Given the description of an element on the screen output the (x, y) to click on. 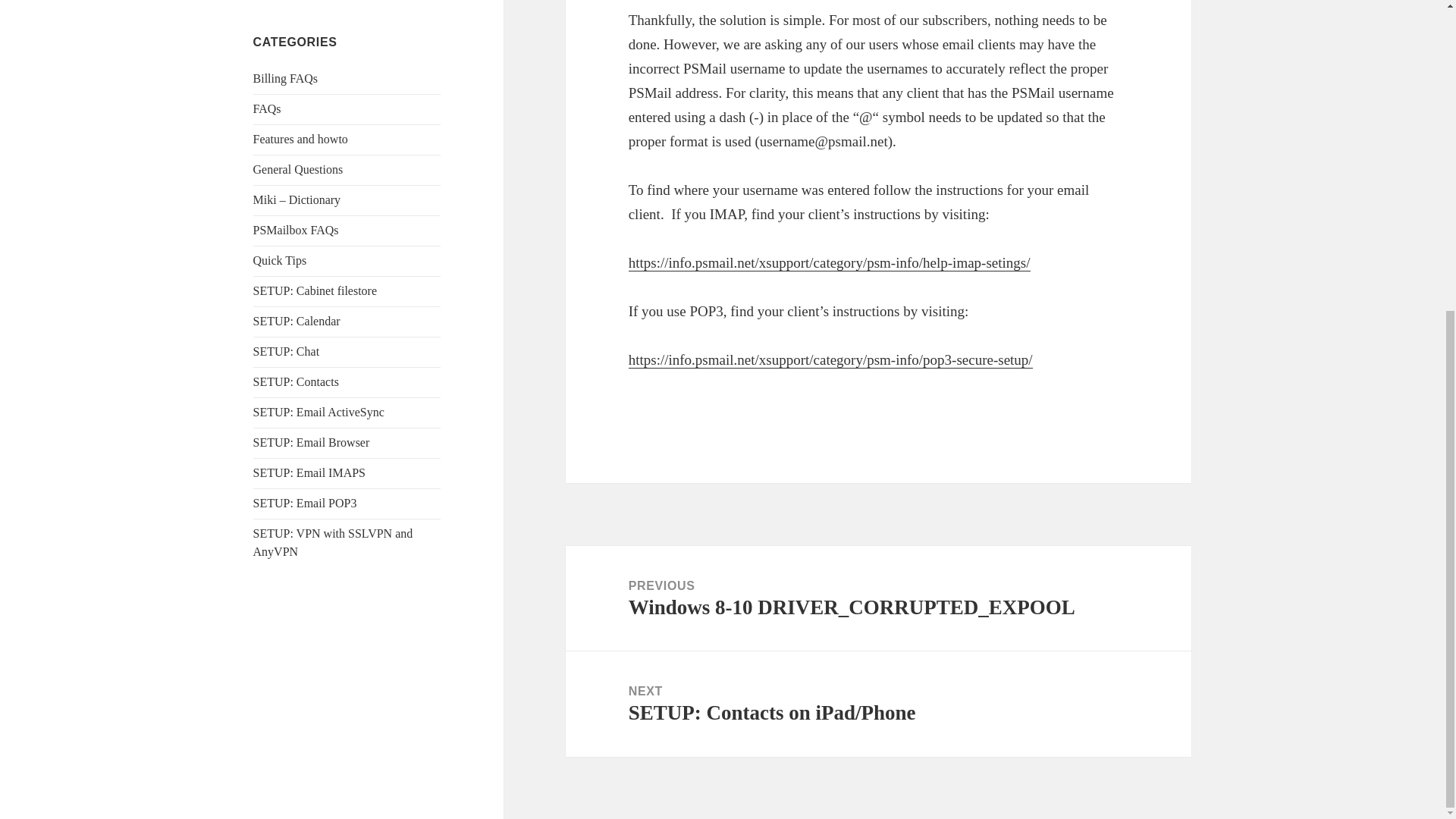
FAQs (267, 108)
SETUP: VPN with SSLVPN and AnyVPN (333, 542)
General Questions (298, 169)
SETUP: Email POP3 (304, 502)
SETUP: Cabinet filestore (315, 290)
SETUP: Calendar (296, 320)
Billing FAQs (285, 78)
SETUP: Contacts (296, 381)
PSMailbox FAQs (296, 229)
Features and howto (300, 138)
